Given the description of an element on the screen output the (x, y) to click on. 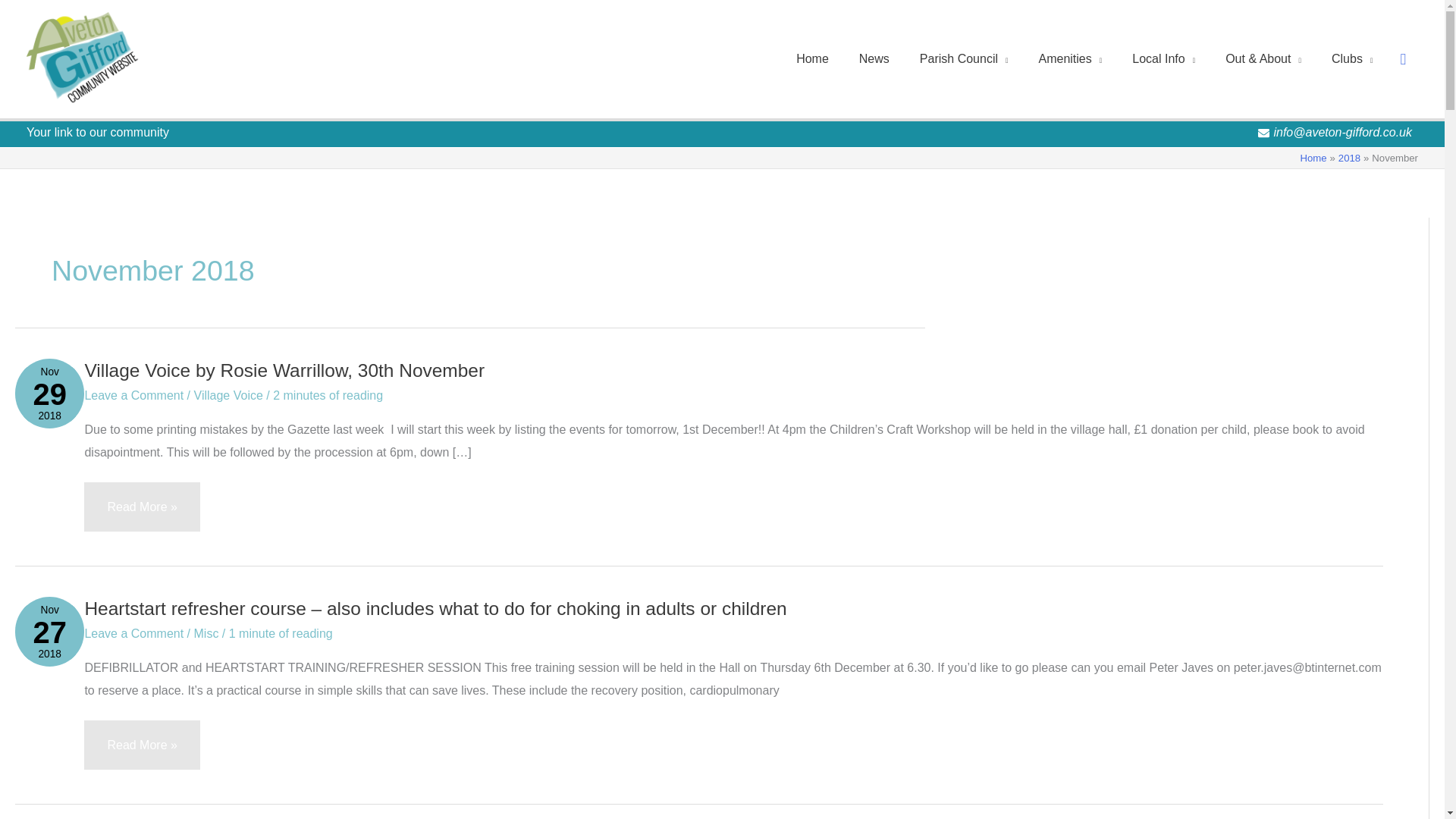
Amenities (1070, 59)
Home (812, 59)
Local Info (1162, 59)
Parish Council (963, 59)
News (874, 59)
